Given the description of an element on the screen output the (x, y) to click on. 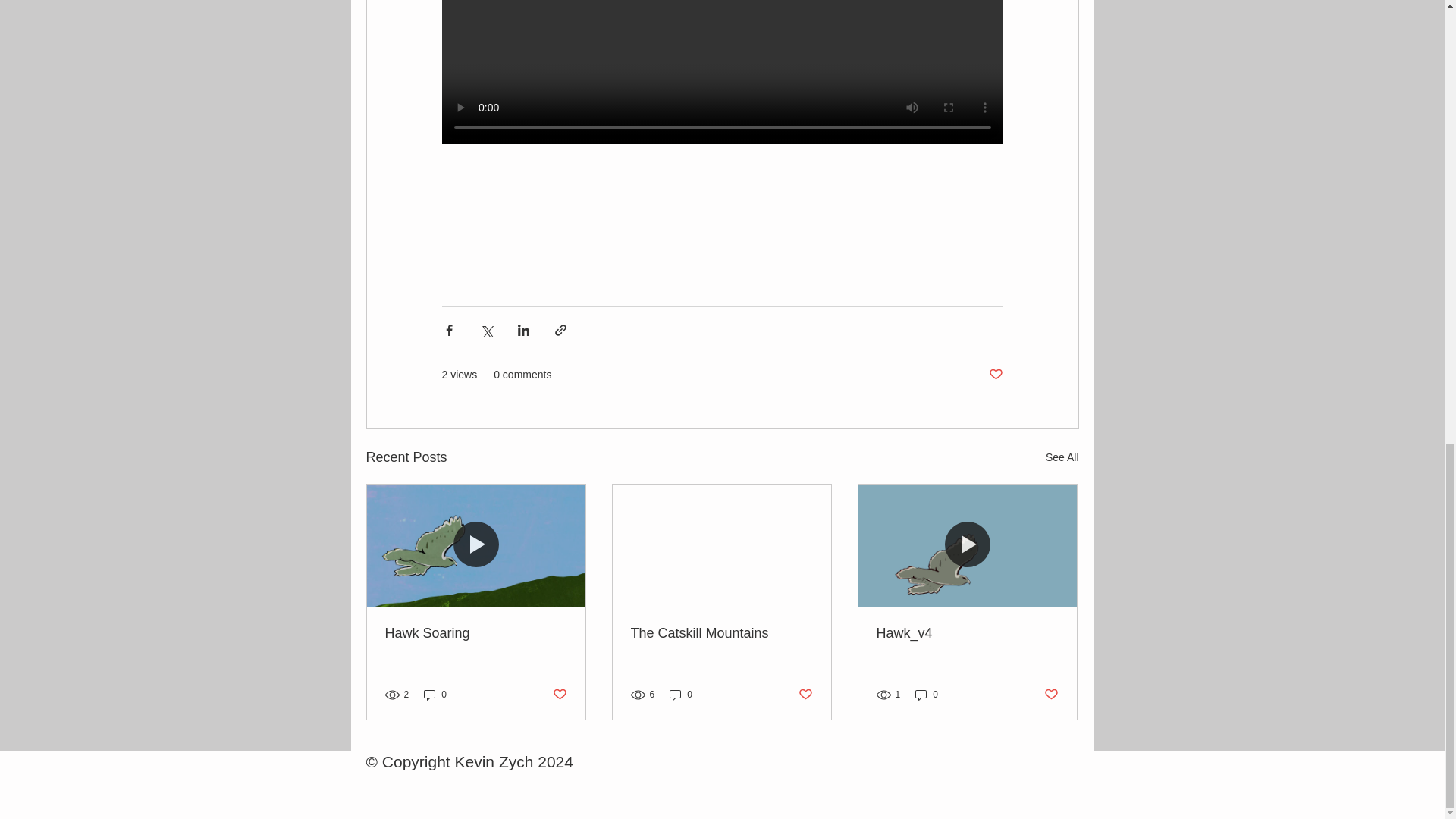
See All (1061, 457)
The Catskill Mountains (721, 633)
Post not marked as liked (995, 374)
0 (681, 694)
Post not marked as liked (1050, 694)
0 (926, 694)
0 (435, 694)
Hawk Soaring (476, 633)
Post not marked as liked (804, 694)
Post not marked as liked (558, 694)
